Given the description of an element on the screen output the (x, y) to click on. 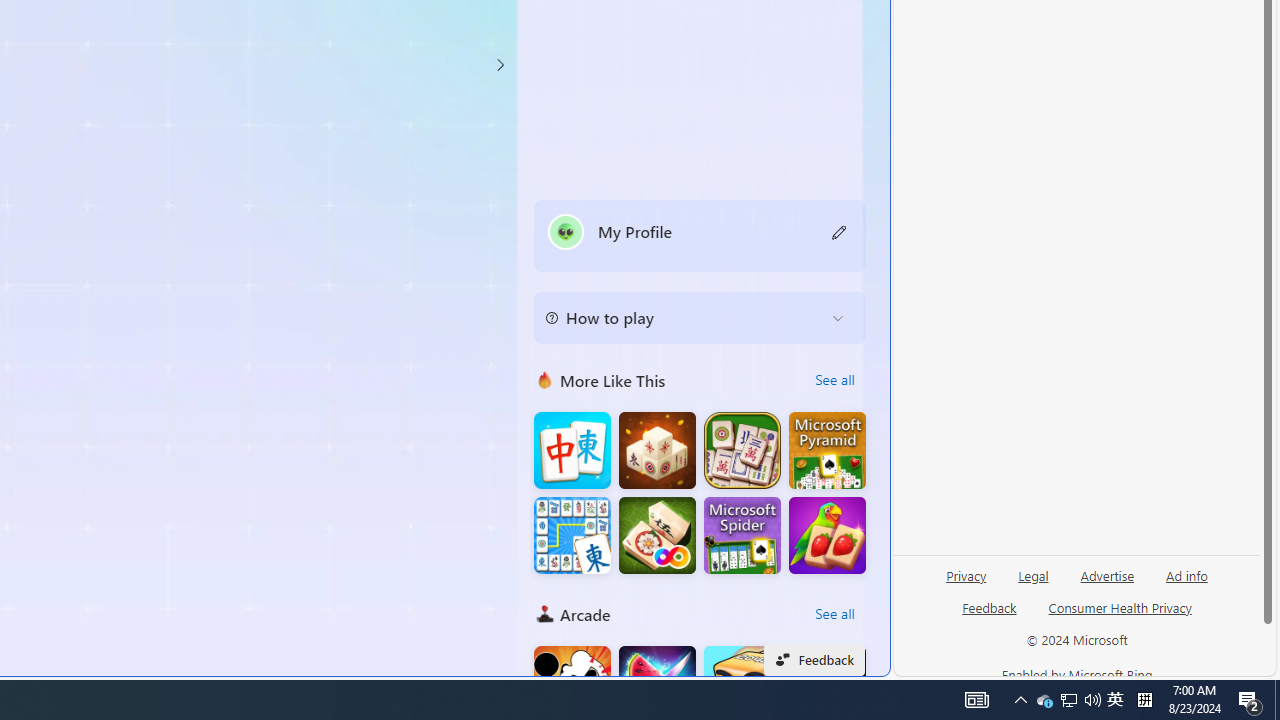
Privacy (965, 574)
google_privacy_policy_zh-CN.pdf (687, 482)
Arcade (544, 613)
Consumer Health Privacy (1119, 607)
More Like This (544, 379)
Mahjong Connect Deluxe (571, 535)
Advertise (1107, 574)
MSN (687, 223)
Class: button edit-icon (839, 231)
Consumer Health Privacy (1119, 615)
Mahjong 3D Connect (657, 450)
Favorites (343, 482)
Ad info (1187, 574)
